Given the description of an element on the screen output the (x, y) to click on. 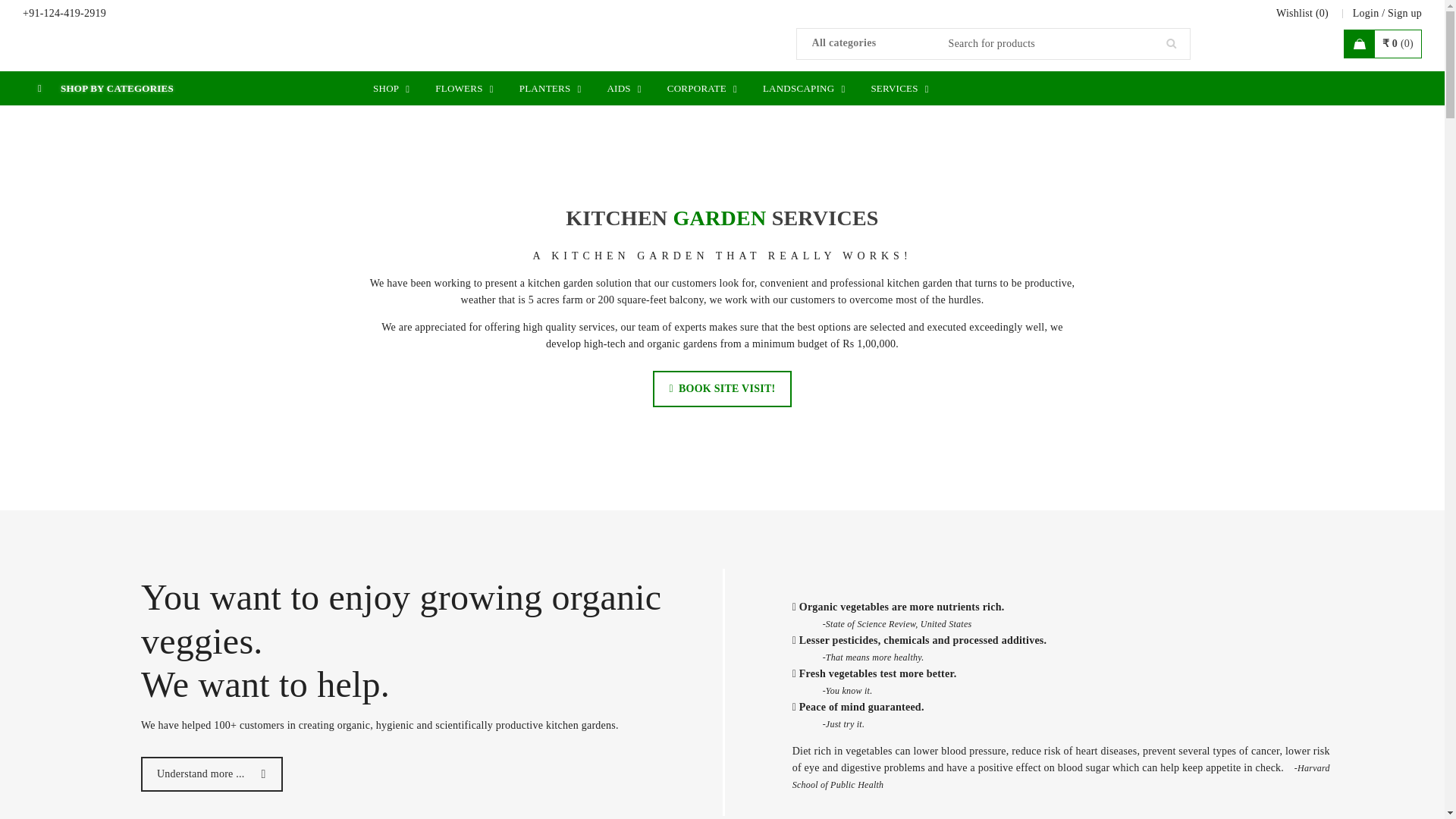
Login (1365, 13)
Search (1170, 44)
View your shopping bag (1382, 43)
Search (1170, 44)
Sign up (1404, 13)
Wishlist (1301, 13)
Search (1170, 44)
Create New Account (1404, 13)
Login (1365, 13)
